Given the description of an element on the screen output the (x, y) to click on. 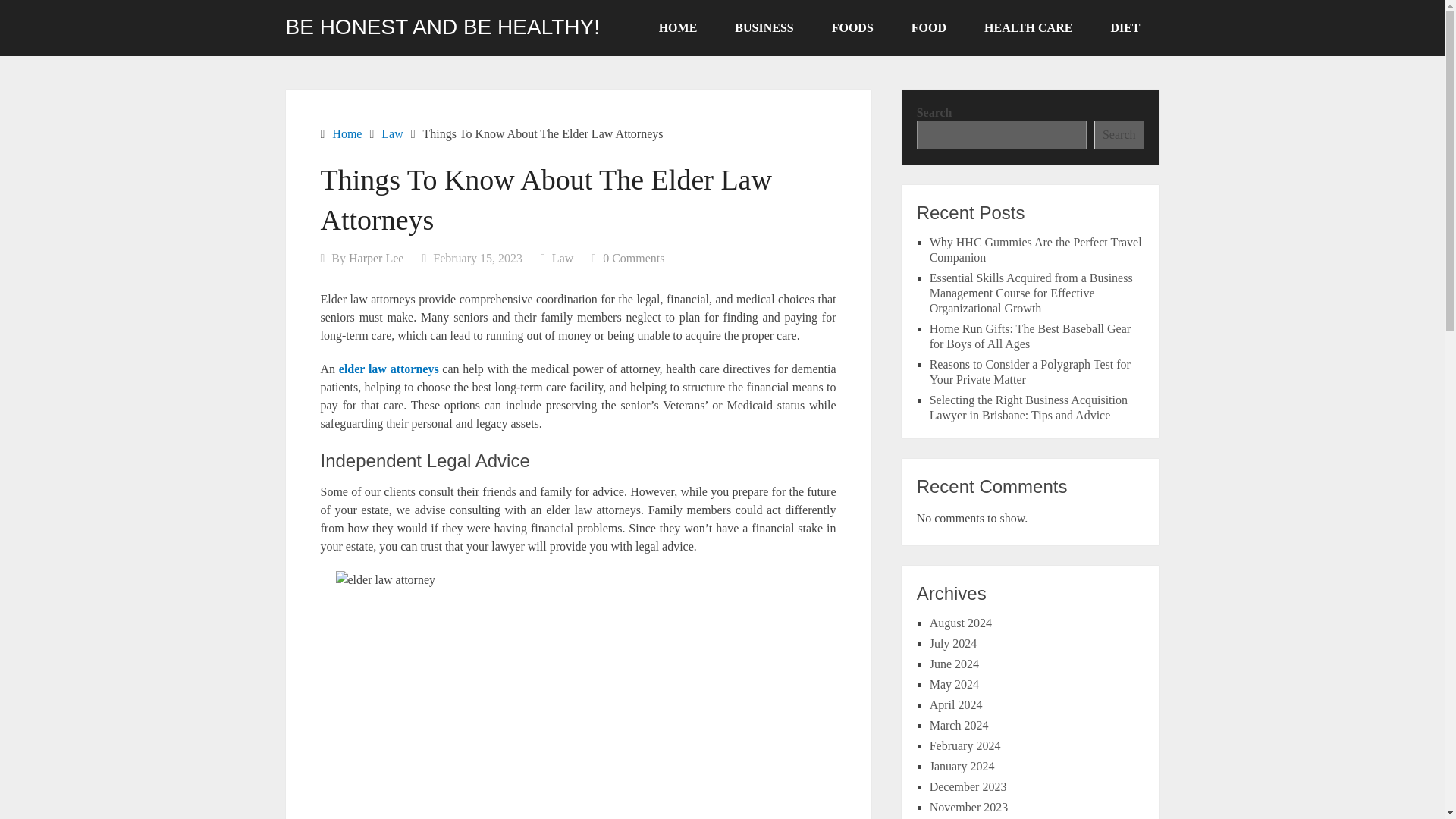
Posts by Harper Lee (376, 257)
Home (346, 133)
Search (1119, 134)
0 Comments (632, 257)
Reasons to Consider a Polygraph Test for Your Private Matter (1030, 371)
HOME (678, 28)
elder law attorneys (389, 368)
Home Run Gifts: The Best Baseball Gear for Boys of All Ages (1030, 336)
FOOD (928, 28)
